Given the description of an element on the screen output the (x, y) to click on. 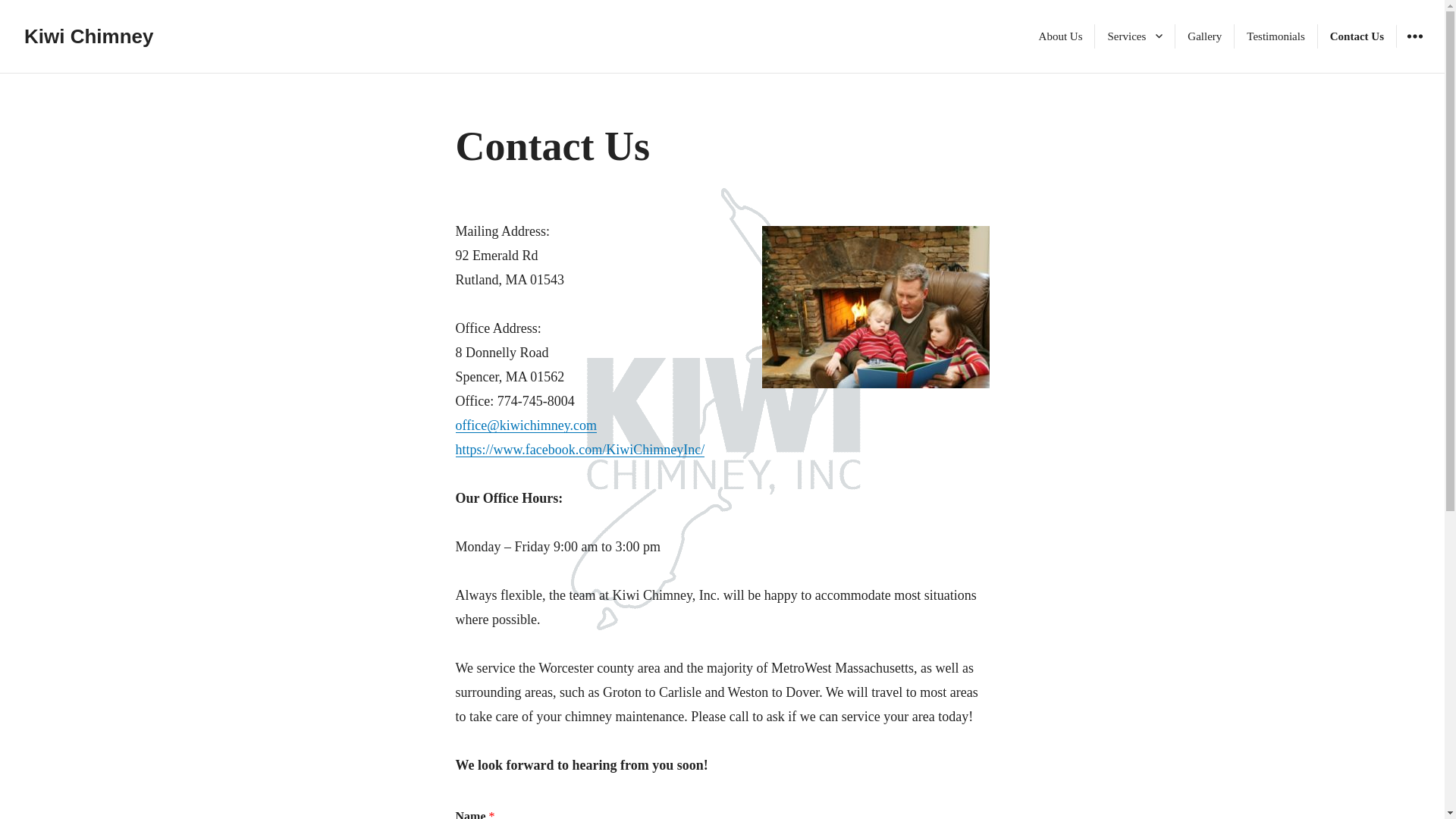
Kiwi Chimney (88, 36)
Testimonials (1275, 36)
Services (1134, 36)
About Us (1060, 36)
Contact Us (1356, 36)
WIDGETS (1414, 36)
Gallery (1203, 36)
